Given the description of an element on the screen output the (x, y) to click on. 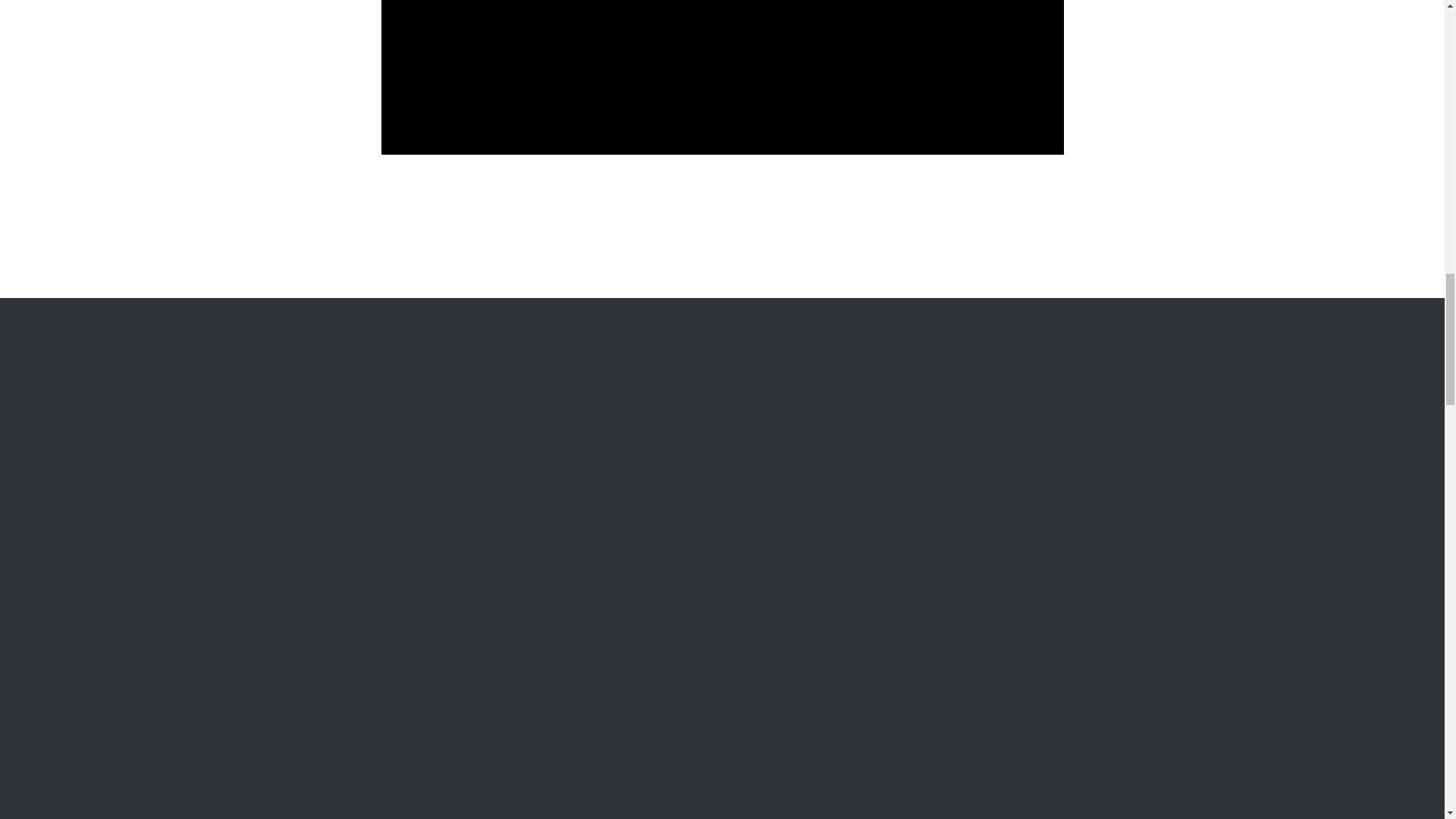
youtube Video Player (721, 77)
